Given the description of an element on the screen output the (x, y) to click on. 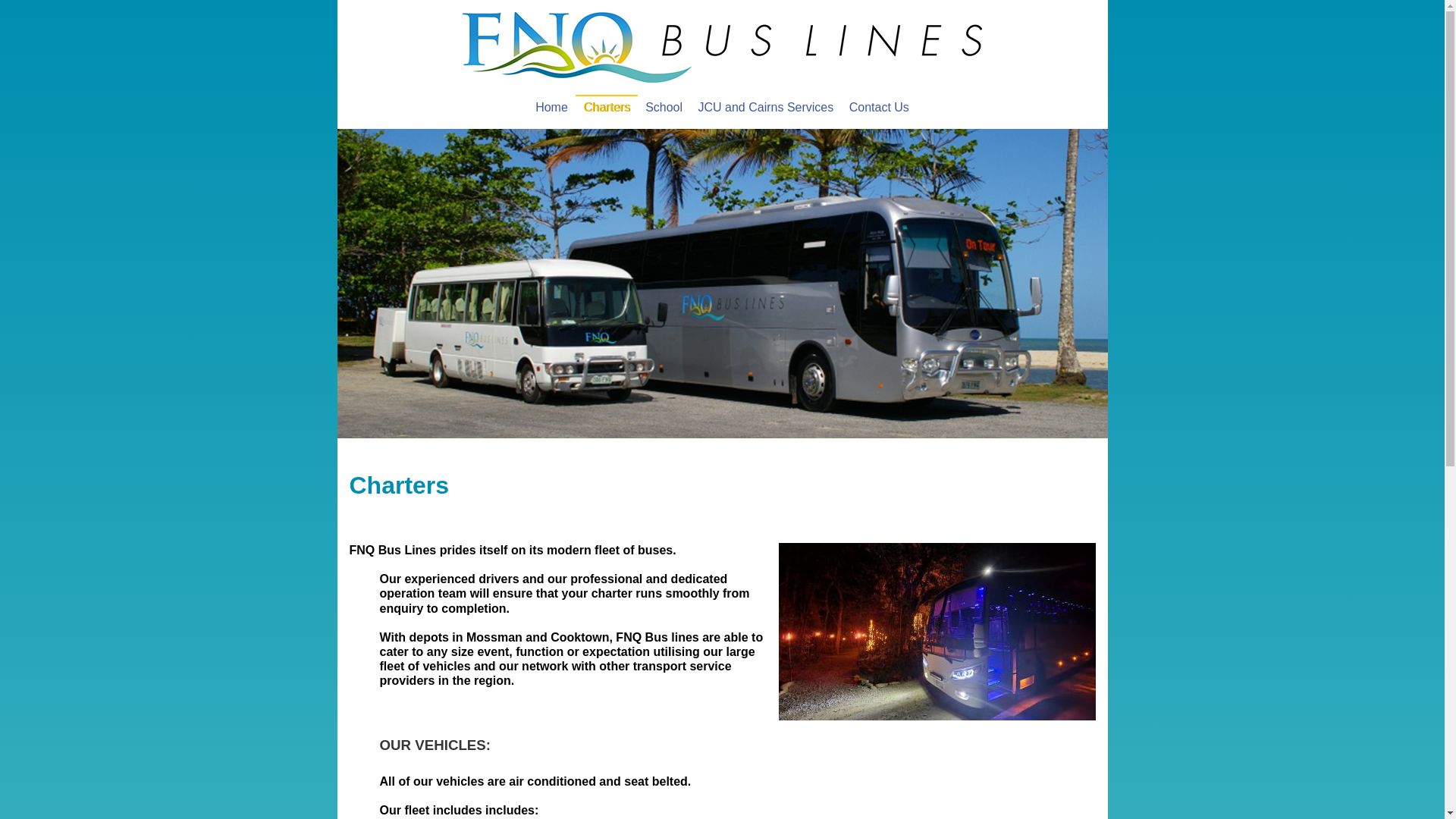
JCU and Cairns Services Element type: text (765, 107)
Home Element type: hover (722, 78)
Home Element type: text (551, 107)
School Element type: text (663, 107)
Contact Us Element type: text (878, 107)
Charters Element type: text (606, 106)
Jump to navigation Element type: text (722, 2)
